Given the description of an element on the screen output the (x, y) to click on. 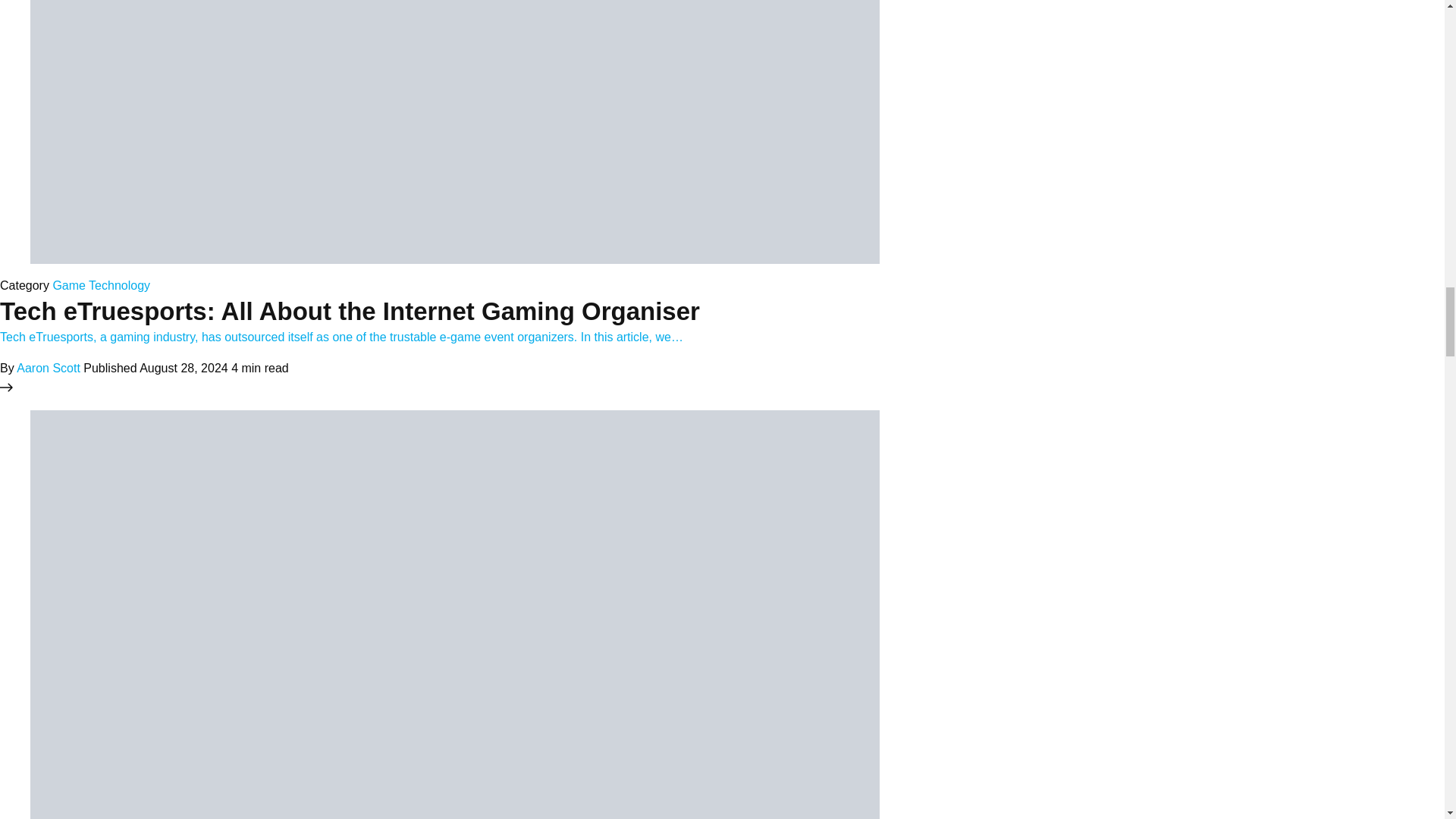
Game (68, 285)
Aaron Scott (48, 367)
Technology (118, 285)
